Given the description of an element on the screen output the (x, y) to click on. 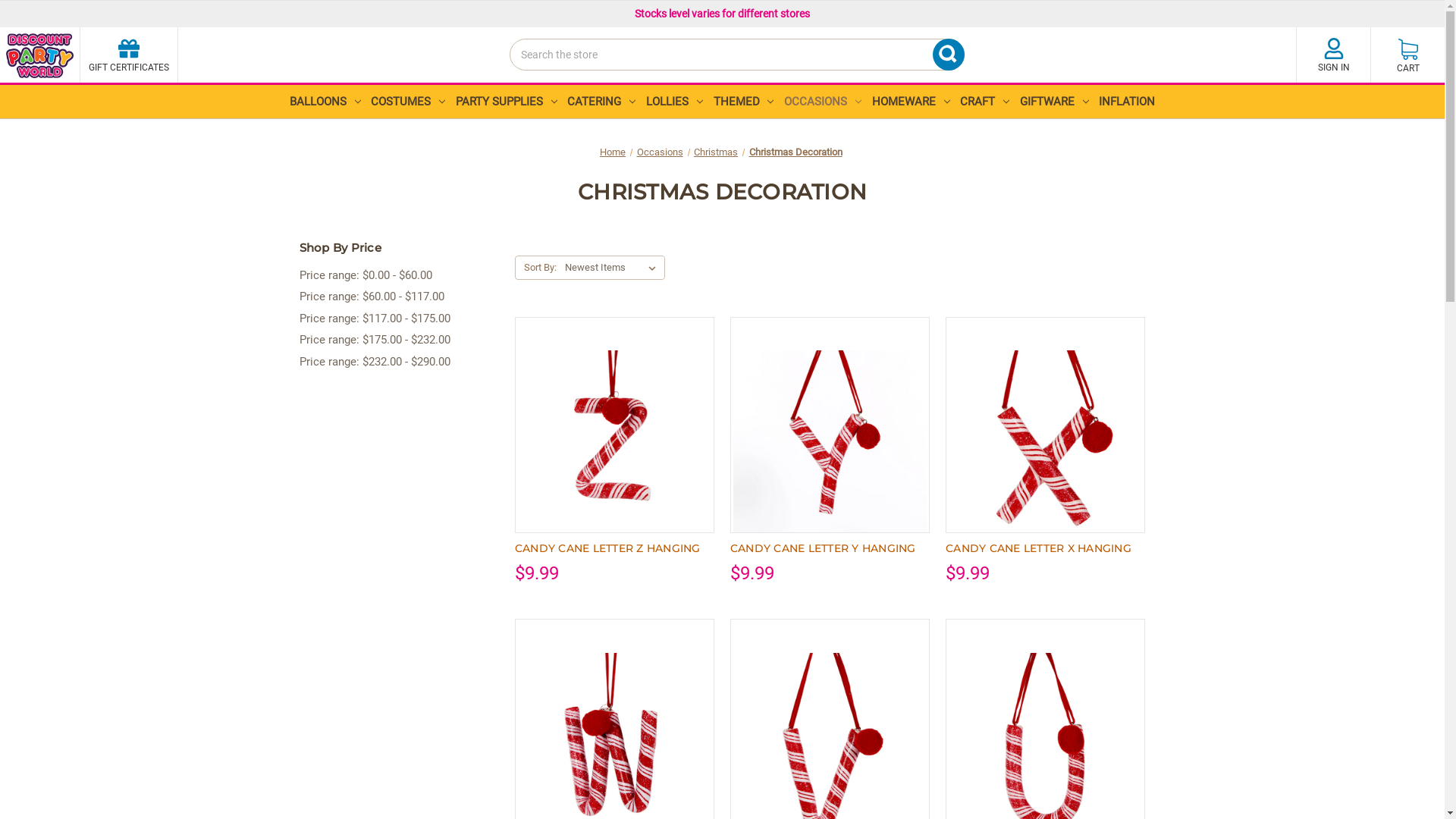
INFLATION Element type: text (1127, 101)
CANDY CANE LETTER X HANGING Element type: text (1045, 548)
OCCASIONS Element type: text (822, 101)
Occasions Element type: text (660, 151)
SIGN IN Element type: text (1332, 54)
CATERING Element type: text (601, 101)
Discount Party World Element type: hover (39, 55)
THEMED Element type: text (743, 101)
CANDY CANE LETTER Z HANGING Element type: hover (614, 446)
Price range: $0.00 - $60.00 Element type: text (398, 275)
CANDY CANE LETTER Z HANGING Element type: text (614, 548)
Christmas Decoration Element type: text (795, 151)
CANDY CANE LETTER X HANGING Element type: hover (1045, 446)
Search Element type: text (513, 81)
CART Element type: text (1407, 54)
COSTUMES Element type: text (407, 101)
HOMEWARE Element type: text (910, 101)
CANDY CANE LETTER Y HANGING Element type: hover (829, 446)
Christmas Element type: text (715, 151)
LOLLIES Element type: text (674, 101)
Home Element type: text (612, 151)
PARTY SUPPLIES Element type: text (506, 101)
Price range: $117.00 - $175.00 Element type: text (398, 318)
BALLOONS Element type: text (325, 101)
Price range: $60.00 - $117.00 Element type: text (398, 296)
Price range: $175.00 - $232.00 Element type: text (398, 340)
CANDY CANE LETTER Y HANGING Element type: text (829, 548)
Price range: $232.00 - $290.00 Element type: text (398, 362)
GIFTWARE Element type: text (1054, 101)
GIFT CERTIFICATES Element type: text (128, 54)
CRAFT Element type: text (984, 101)
